Given the description of an element on the screen output the (x, y) to click on. 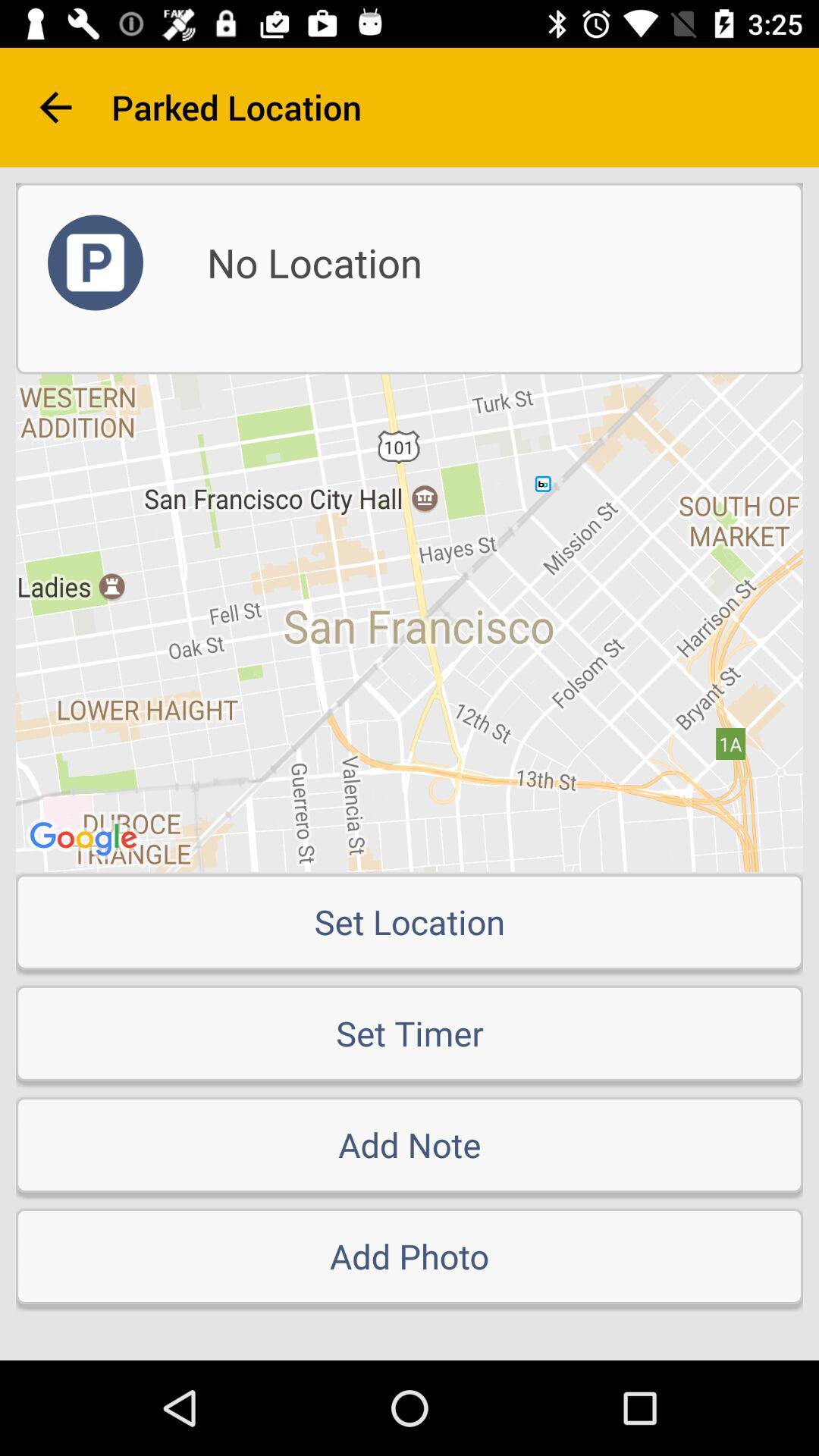
choose item above add note (409, 1033)
